Given the description of an element on the screen output the (x, y) to click on. 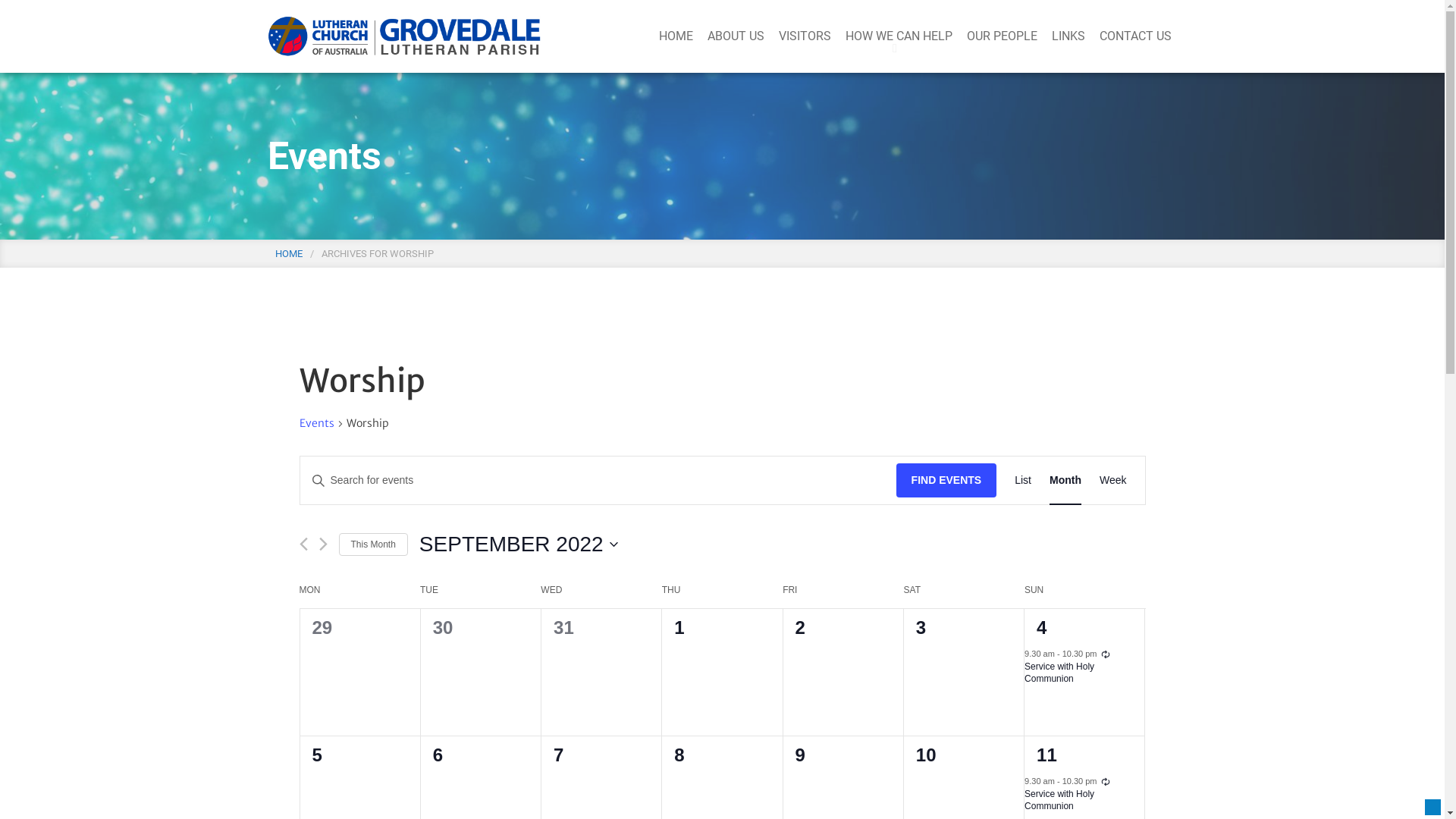
LINKS Element type: text (1067, 36)
4 Element type: text (1041, 627)
OUR PEOPLE Element type: text (1001, 36)
Next month Element type: hover (322, 543)
11 Element type: text (1046, 754)
FIND EVENTS Element type: text (946, 480)
SEPTEMBER 2022 Element type: text (518, 544)
This Month Element type: text (372, 544)
VISITORS Element type: text (803, 36)
ABOUT US Element type: text (734, 36)
Recurring Element type: text (1105, 653)
Previous month Element type: hover (302, 543)
HOME Element type: text (287, 253)
HOW WE CAN HELP Element type: text (897, 36)
Recurring Element type: text (1105, 781)
Service with Holy Communion Element type: text (1059, 673)
GROVEDALE ST PAULS CONGREGATION, VIC Element type: text (402, 36)
Events Element type: text (315, 424)
Skip to main content Element type: text (0, 0)
Service with Holy Communion Element type: text (1059, 800)
Month Element type: text (1065, 480)
HOME Element type: text (675, 36)
Week Element type: text (1112, 480)
CONTACT US Element type: text (1135, 36)
List Element type: text (1022, 480)
